Given the description of an element on the screen output the (x, y) to click on. 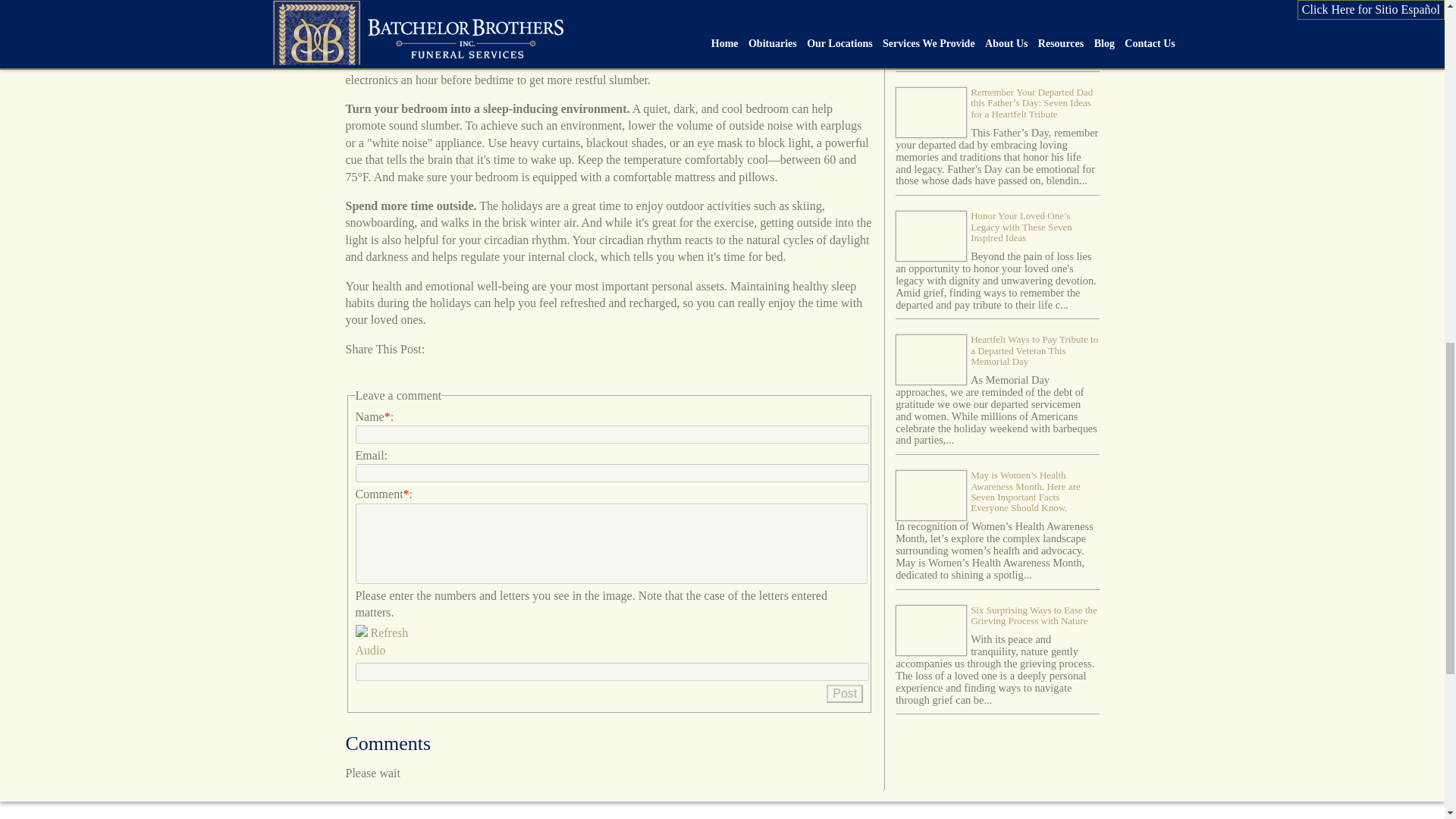
Post (845, 693)
Audio (370, 649)
Facebook (357, 369)
Refresh (388, 632)
Twitter (384, 369)
